Given the description of an element on the screen output the (x, y) to click on. 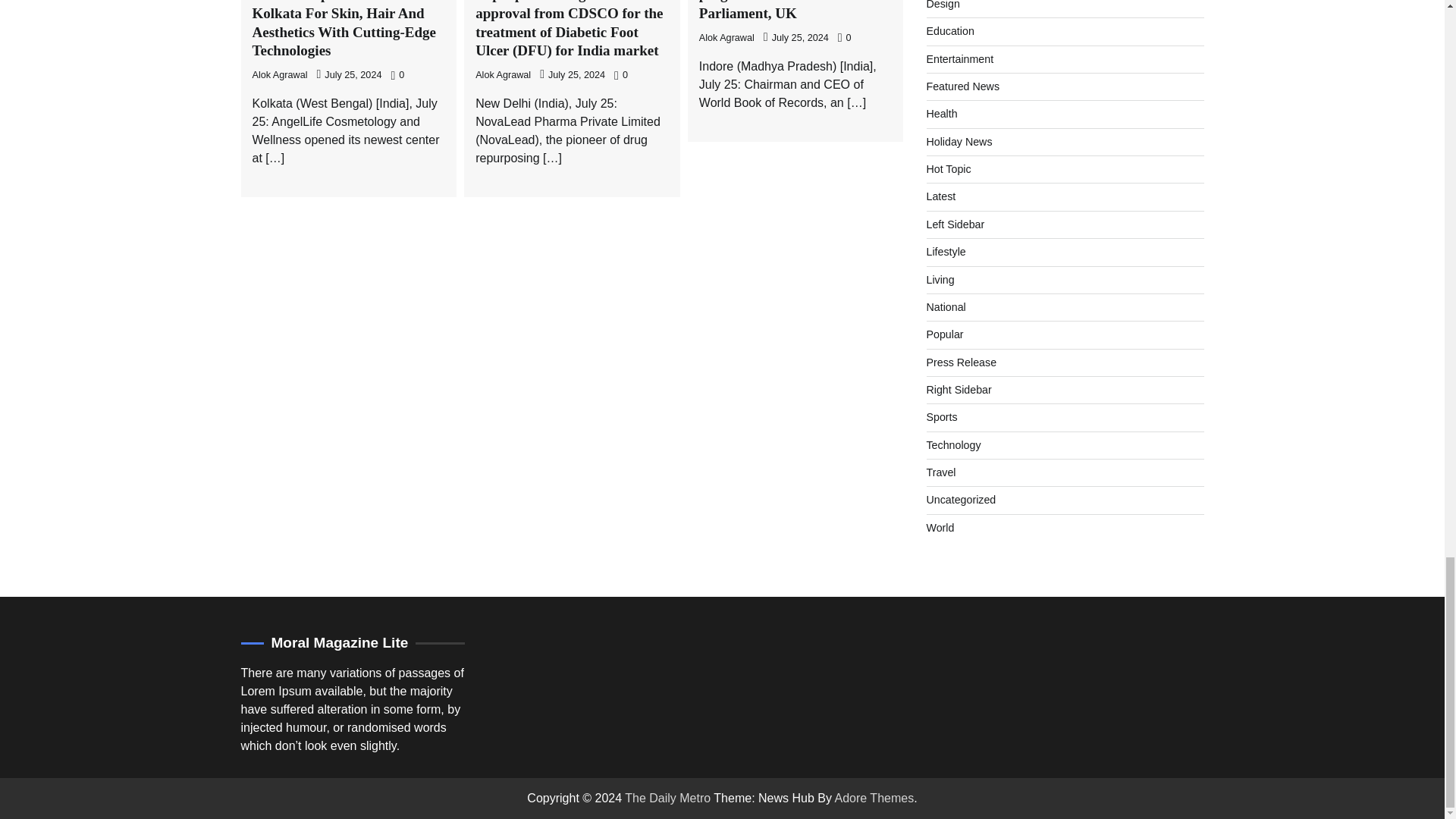
Alok Agrawal (503, 74)
Alok Agrawal (279, 74)
Alok Agrawal (726, 37)
